Given the description of an element on the screen output the (x, y) to click on. 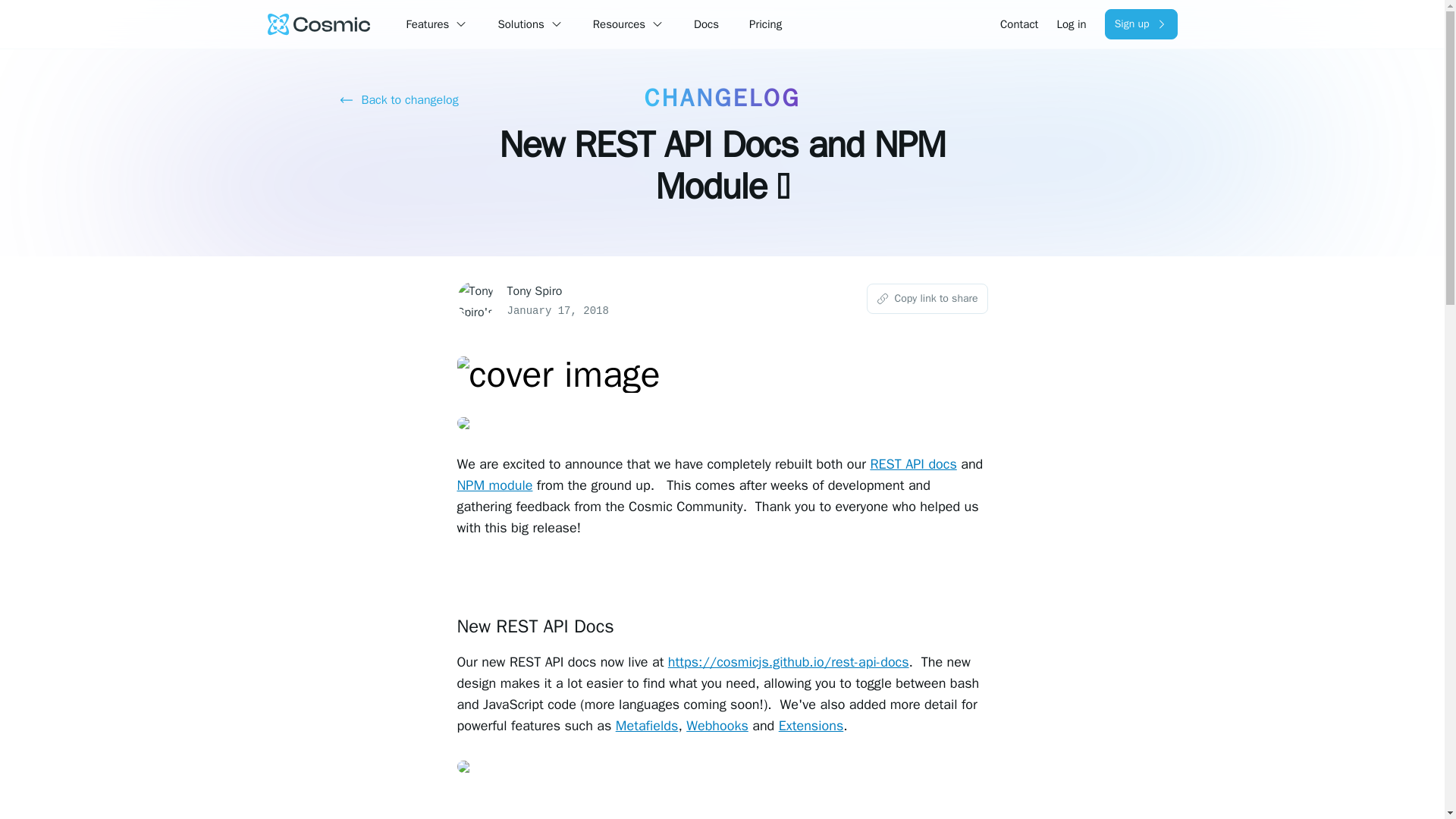
Metafields (646, 725)
Log in (1071, 24)
Features (427, 24)
Extensions (811, 725)
Docs (706, 24)
Contact (1019, 24)
Webhooks (716, 725)
Solutions (520, 24)
Sign up (1141, 24)
REST API docs (912, 463)
Pricing (765, 24)
Back to changelog (398, 100)
NPM module (494, 484)
Tony Spiro (534, 290)
Copy link to share (927, 298)
